Given the description of an element on the screen output the (x, y) to click on. 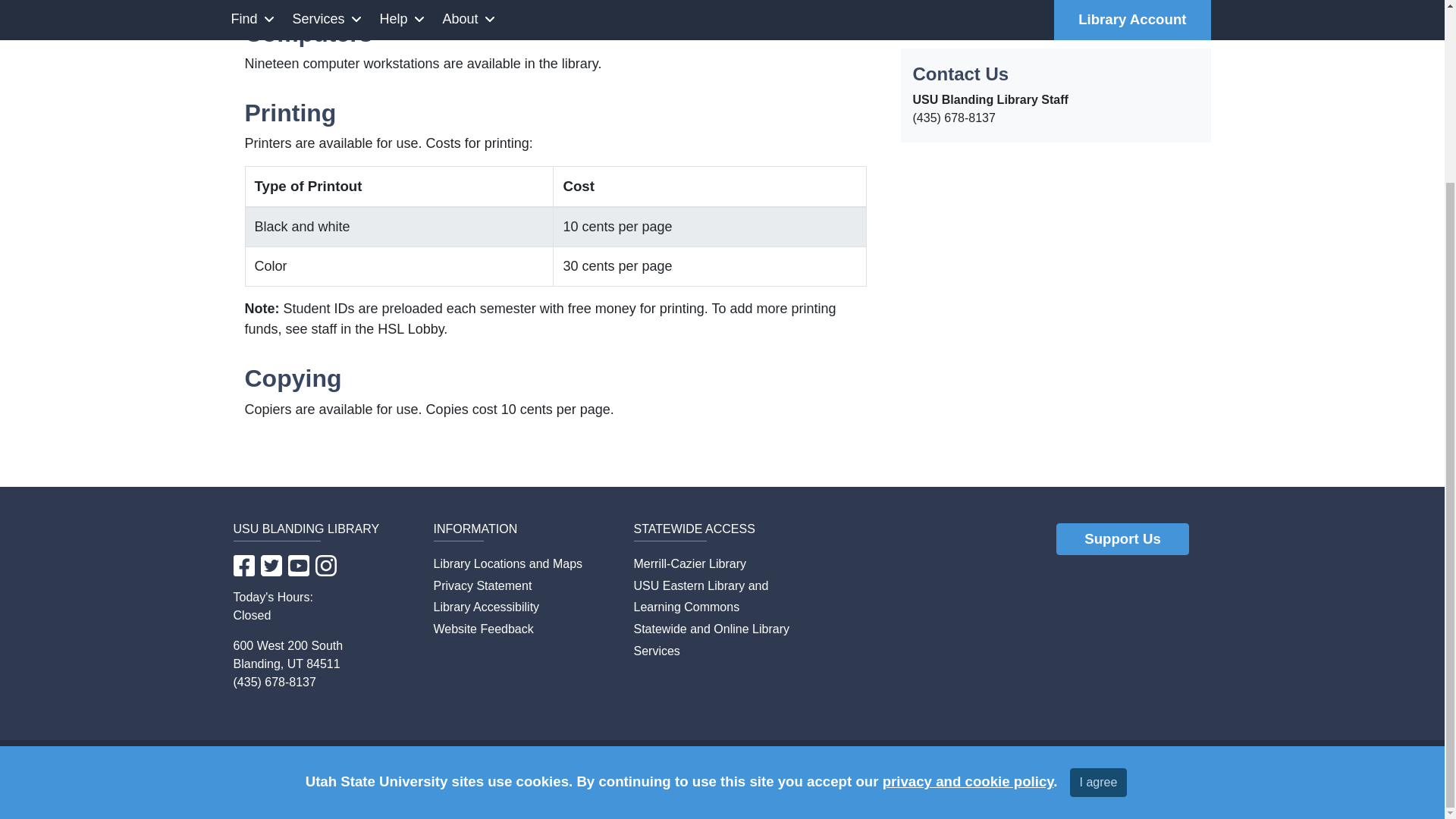
privacy and cookie policy (968, 556)
I agree (1097, 557)
